Given the description of an element on the screen output the (x, y) to click on. 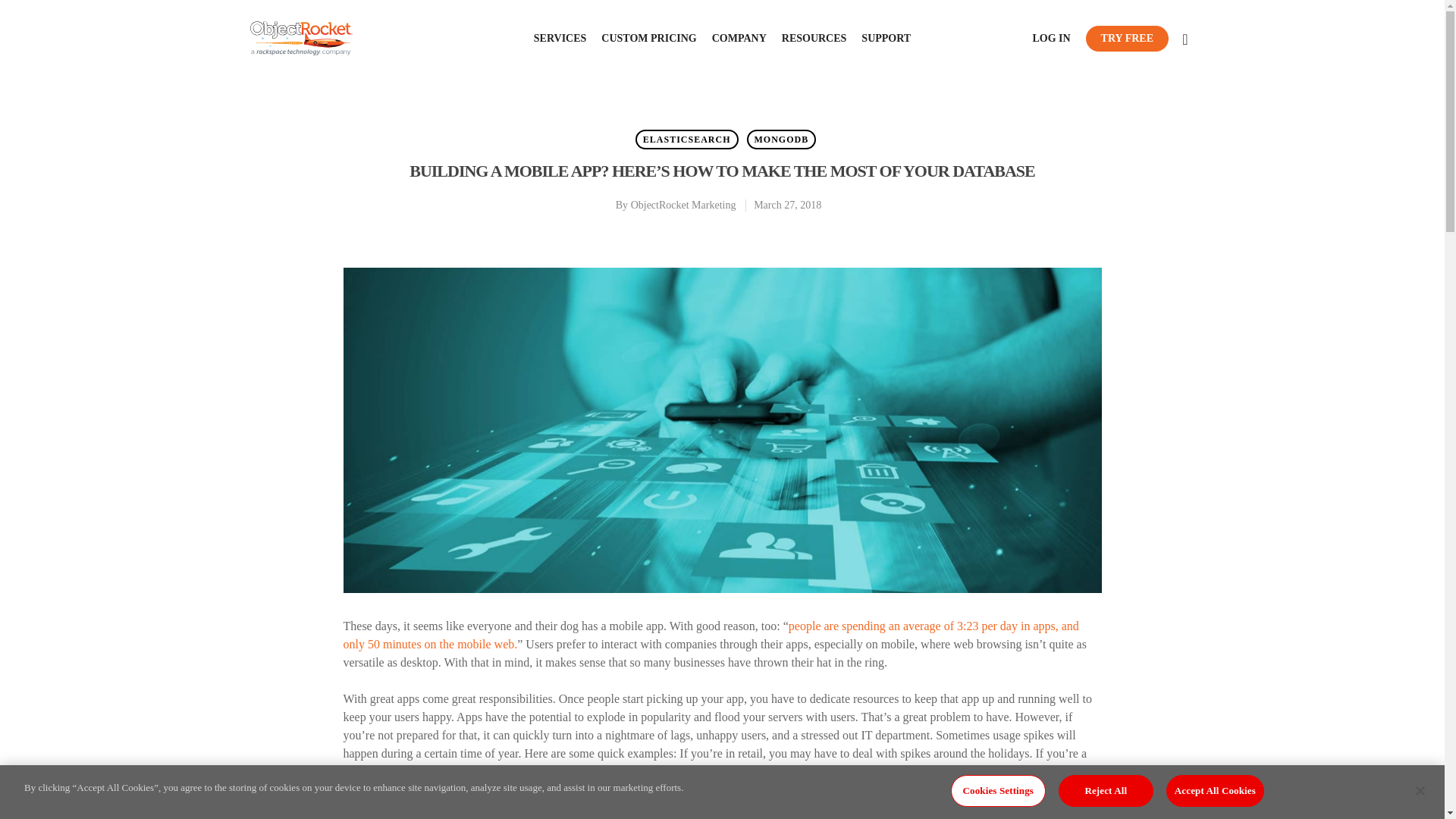
LOG IN (1051, 38)
CUSTOM PRICING (648, 38)
ObjectRocket Marketing (683, 204)
TRY FREE (1127, 38)
Posts by ObjectRocket Marketing (683, 204)
RESOURCES (814, 38)
SERVICES (560, 38)
MONGODB (781, 139)
ELASTICSEARCH (686, 139)
MapMyFitness (959, 771)
SUPPORT (886, 38)
COMPANY (739, 38)
